Given the description of an element on the screen output the (x, y) to click on. 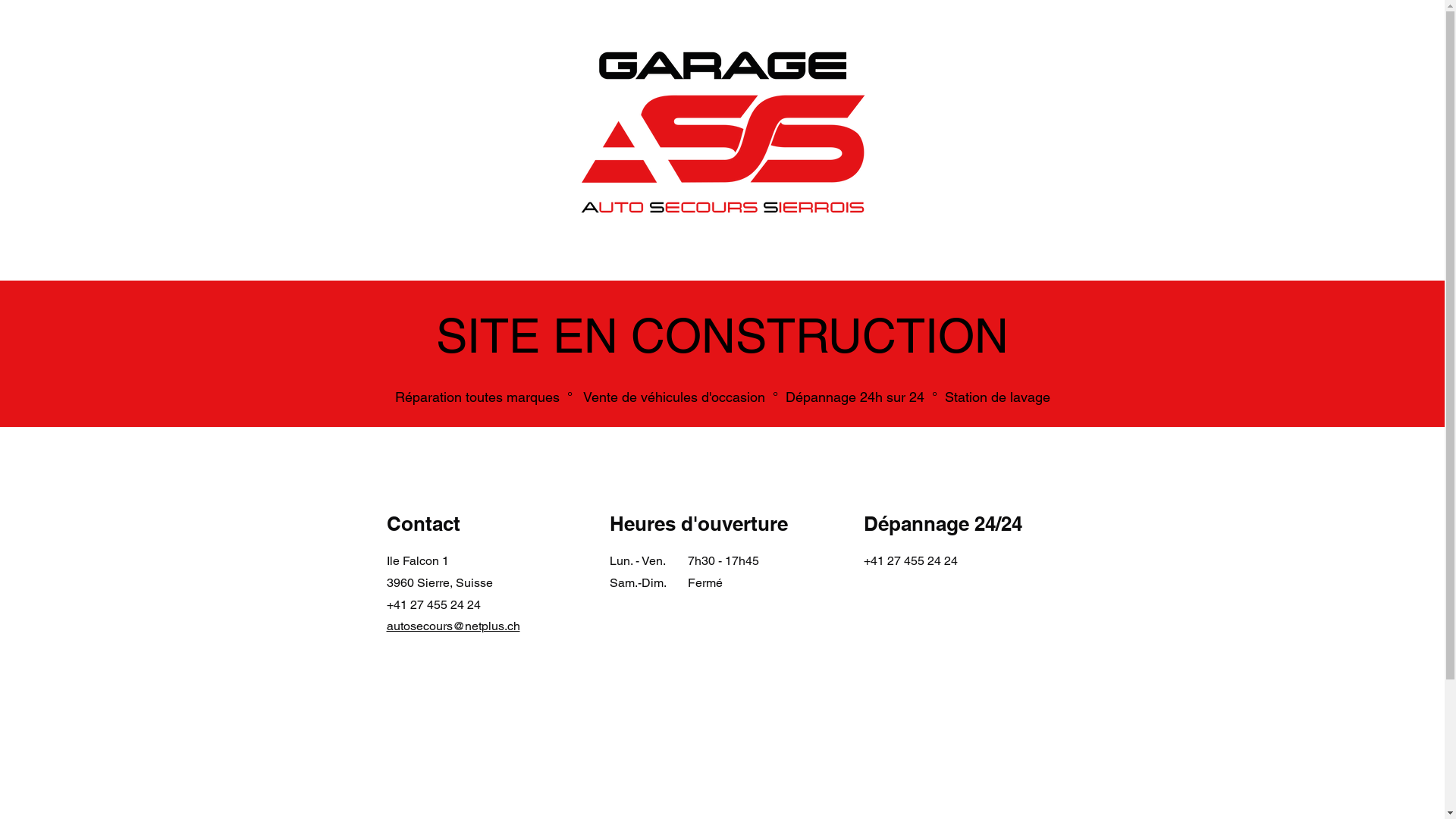
autosecours@netplus.ch Element type: text (453, 625)
+41 27 455 24 24 Element type: text (433, 604)
+41 27 455 24 24 Element type: text (909, 560)
